Given the description of an element on the screen output the (x, y) to click on. 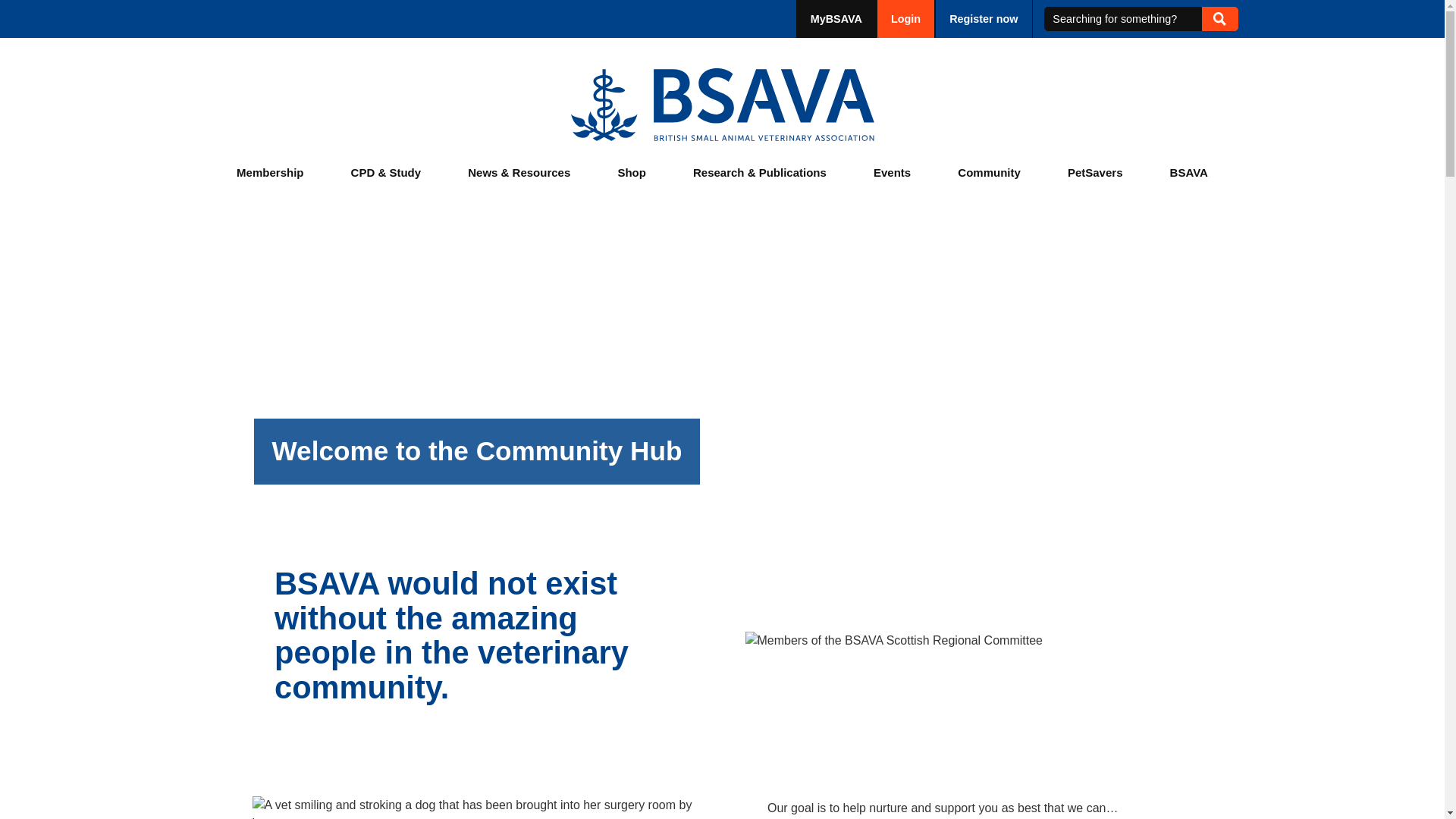
Membership (269, 172)
Login (905, 18)
MyBSAVA (836, 18)
Register now (983, 18)
Shop (631, 172)
